Given the description of an element on the screen output the (x, y) to click on. 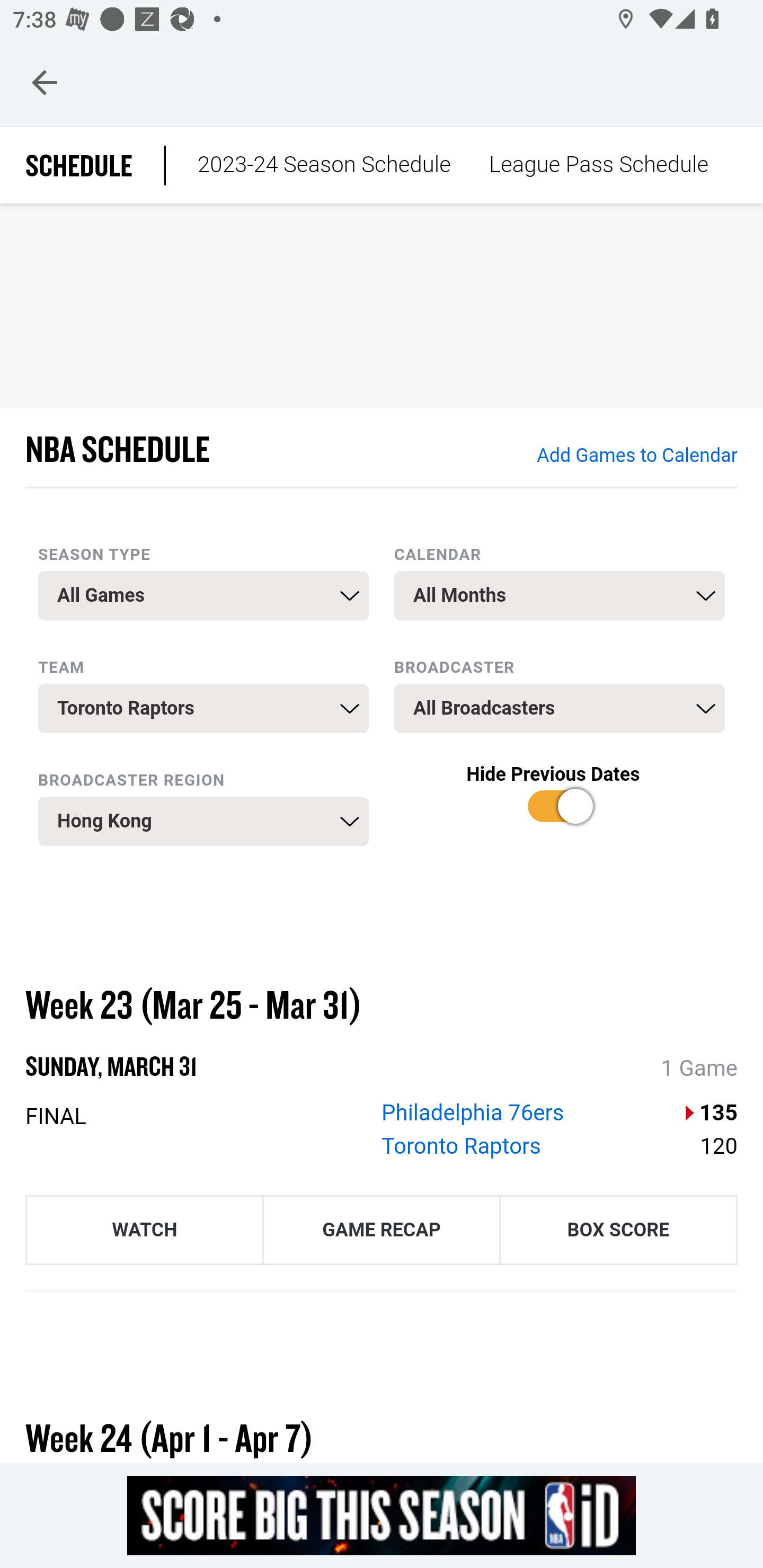
Navigate up (44, 82)
2023-24 Season Schedule (323, 165)
League Pass Schedule (598, 165)
Add Games to Calendar (636, 455)
All Games (203, 595)
All Months (559, 595)
Toronto Raptors (203, 708)
All Broadcasters (559, 708)
Hong Kong (203, 821)
Philadelphia 76ers (472, 1112)
Toronto Raptors (461, 1145)
WATCH (144, 1228)
GAME RECAP (381, 1228)
BOX SCORE (618, 1228)
g5nqqygr7owph (381, 1515)
